Given the description of an element on the screen output the (x, y) to click on. 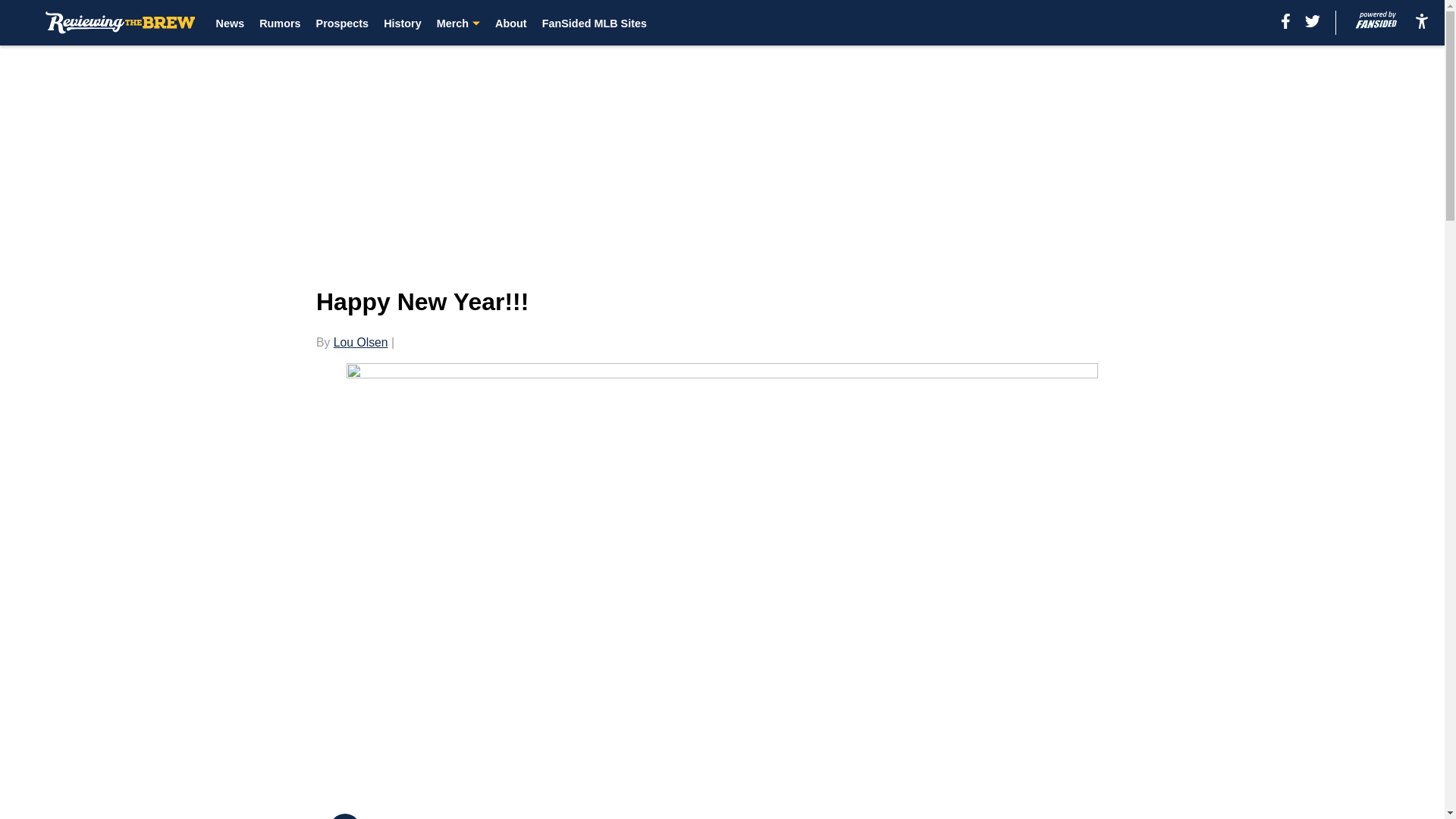
Lou Olsen (360, 341)
Rumors (279, 23)
Prospects (342, 23)
History (403, 23)
FanSided MLB Sites (593, 23)
News (229, 23)
About (511, 23)
